Given the description of an element on the screen output the (x, y) to click on. 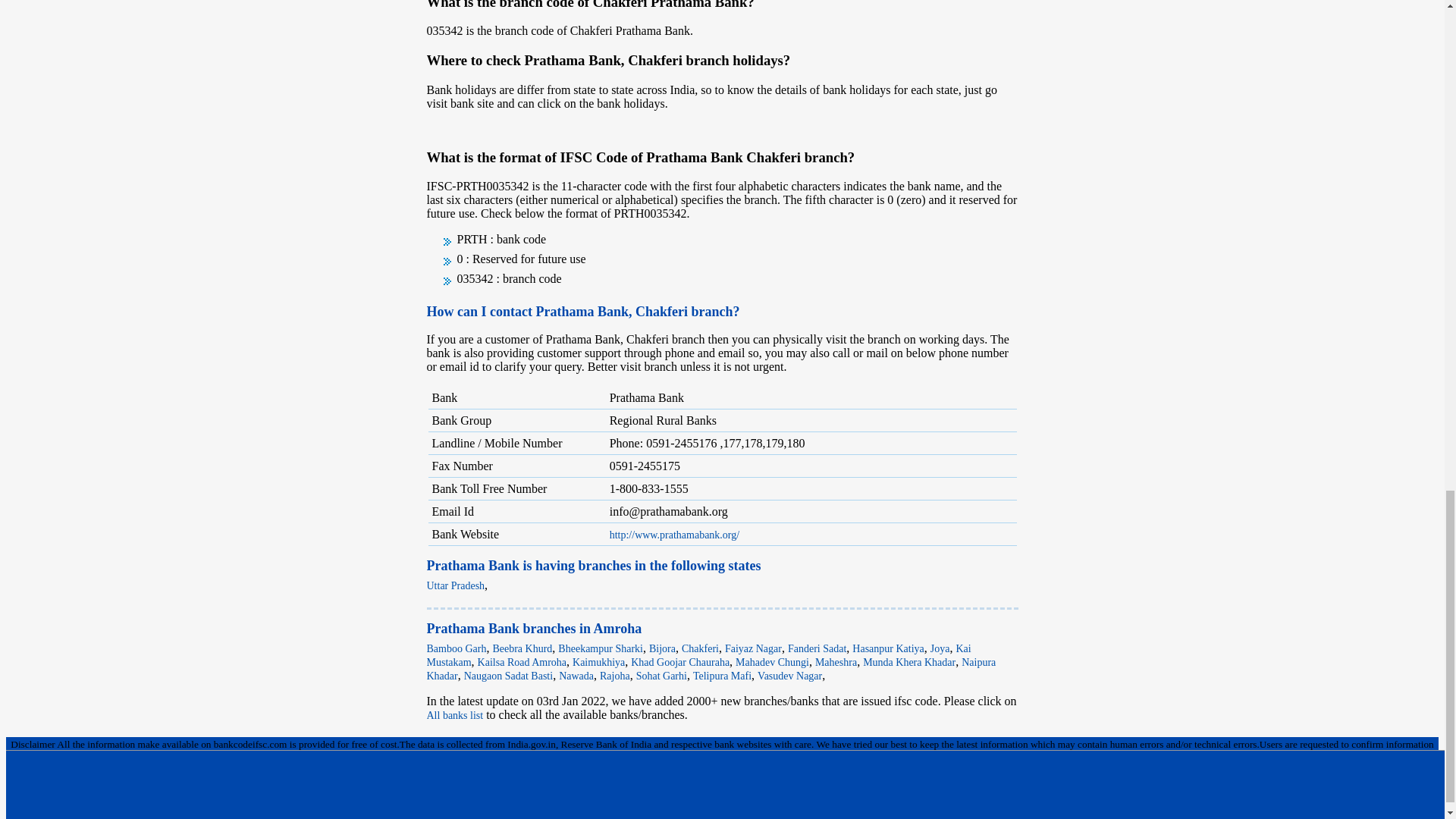
Contact (30, 781)
Maheshra (836, 662)
Rajoha (614, 675)
Naugaon Sadat Basti (508, 675)
Uttar Pradesh (455, 585)
Telipura Mafi (722, 675)
Munda Khera Khadar (909, 662)
Bheekampur Sharki (600, 648)
Hasanpur Katiya (887, 648)
Nawada (576, 675)
